Given the description of an element on the screen output the (x, y) to click on. 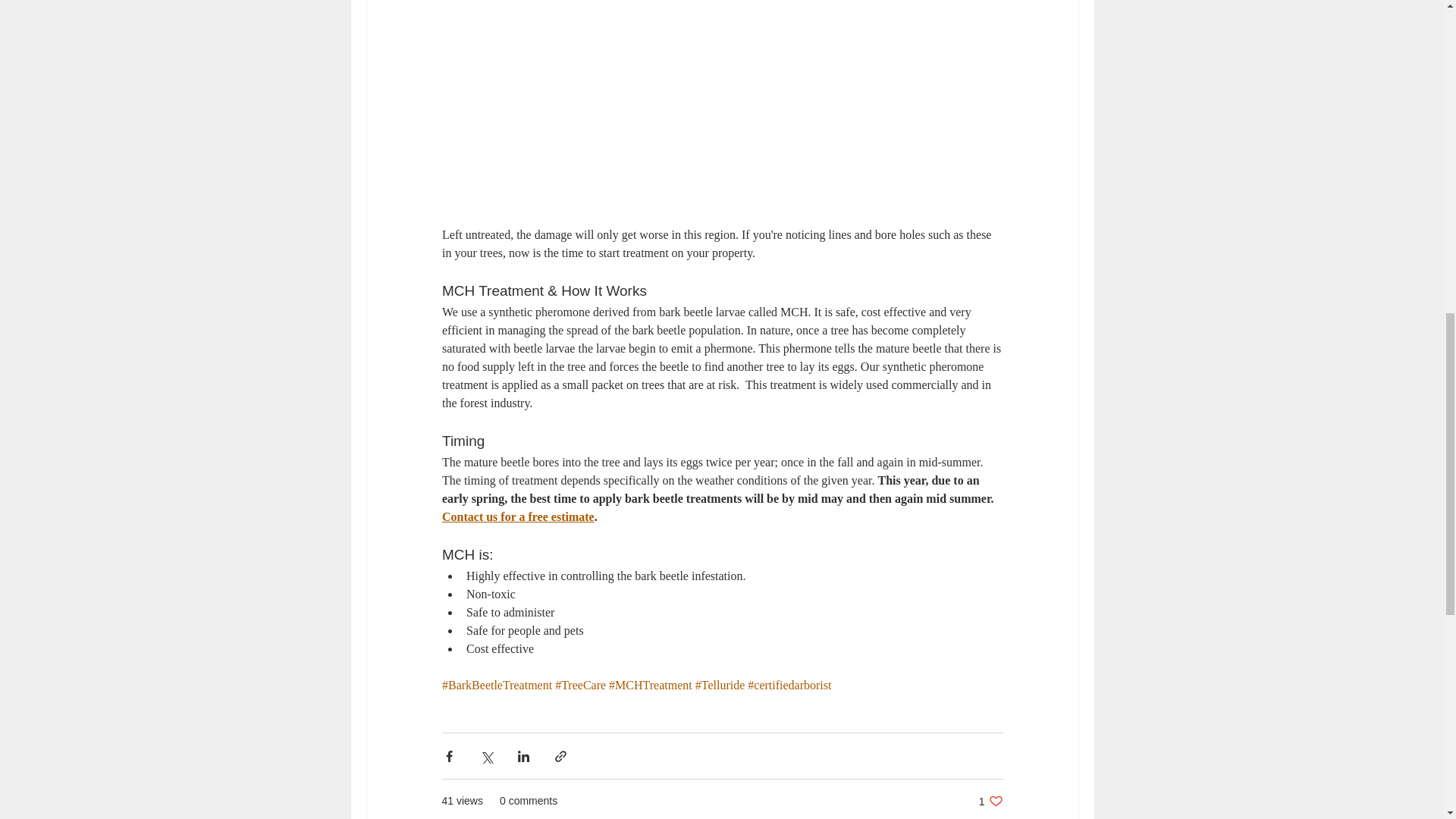
Contact us for a free estimate (990, 800)
